Given the description of an element on the screen output the (x, y) to click on. 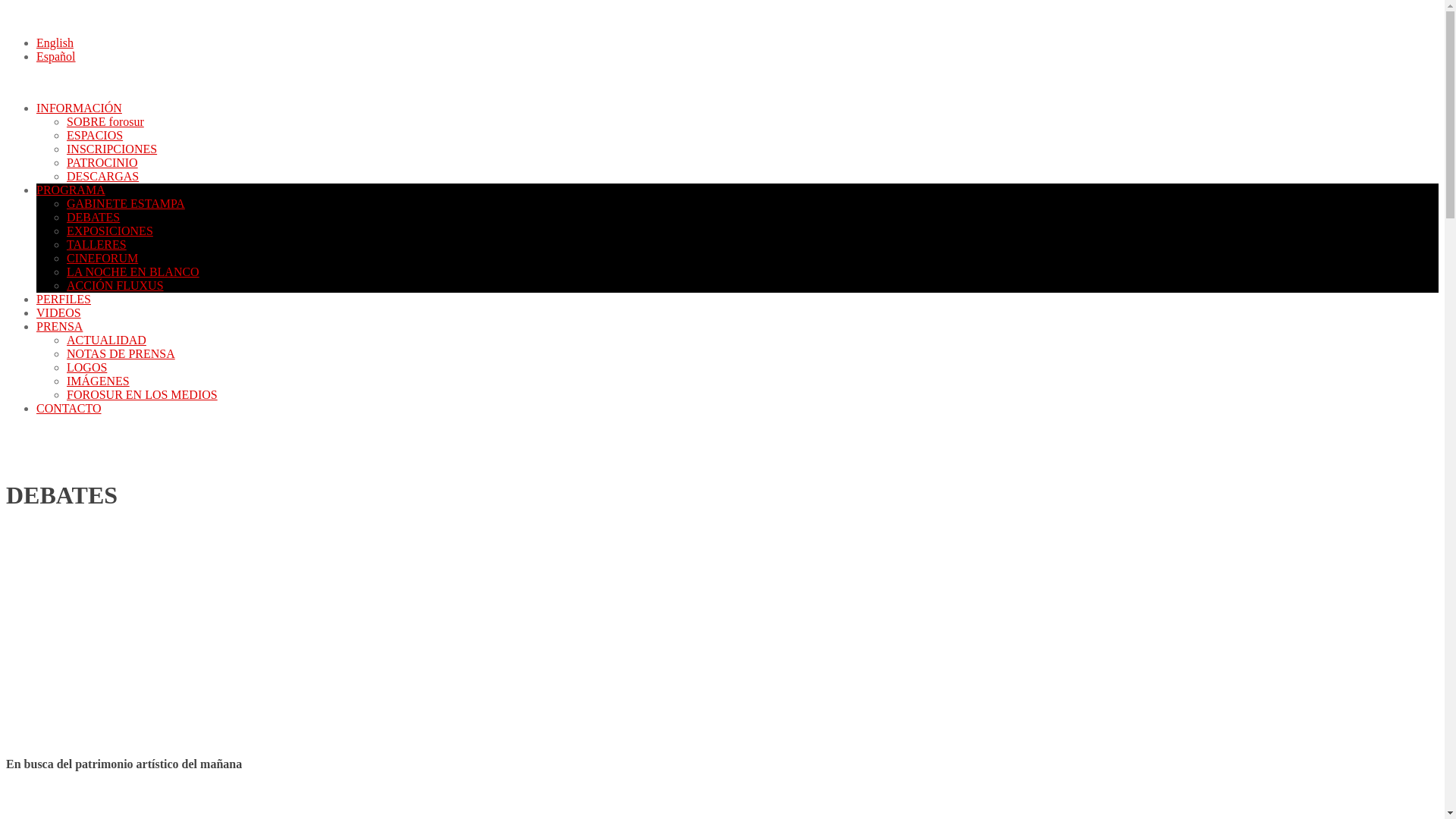
ACTUALIDAD Element type: text (106, 339)
PERFILES Element type: text (63, 298)
TALLERES Element type: text (96, 244)
DESCARGAS Element type: text (102, 175)
LA NOCHE EN BLANCO Element type: text (132, 271)
Inicio Element type: hover (119, 461)
NOTAS DE PRENSA Element type: text (120, 353)
VIDEOS Element type: text (58, 312)
ESPACIOS Element type: text (94, 134)
CONTACTO Element type: text (68, 407)
SOBRE forosur Element type: text (105, 121)
LOGOS Element type: text (86, 366)
PRENSA Element type: text (59, 326)
English Element type: text (54, 42)
FOROSUR EN LOS MEDIOS Element type: text (141, 394)
PROGRAMA Element type: text (70, 189)
GABINETE ESTAMPA Element type: text (125, 203)
EXPOSICIONES Element type: text (109, 230)
CINEFORUM Element type: text (102, 257)
DEBATES Element type: text (92, 216)
INSCRIPCIONES Element type: text (111, 148)
PATROCINIO Element type: text (102, 162)
